Given the description of an element on the screen output the (x, y) to click on. 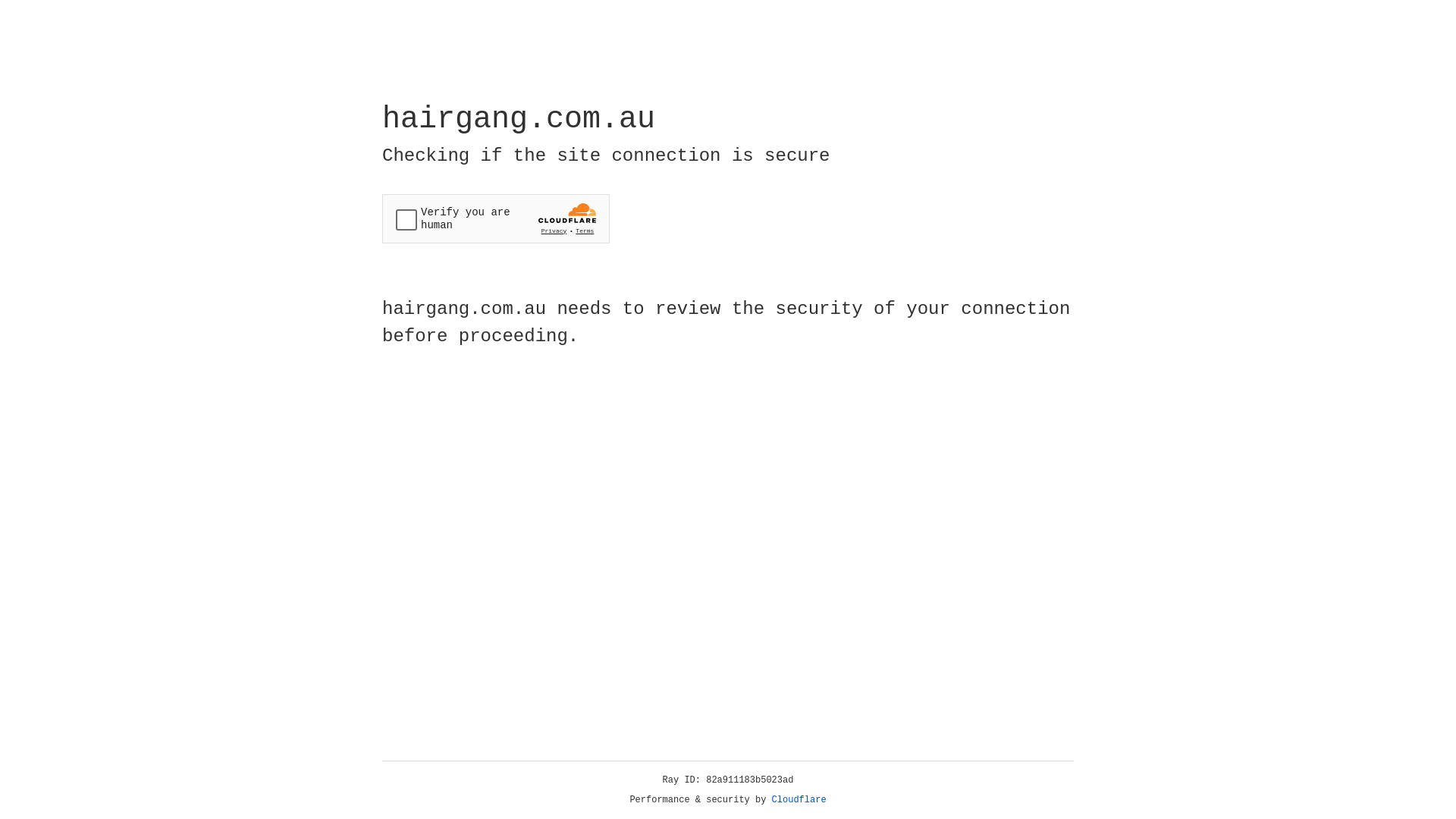
Widget containing a Cloudflare security challenge Element type: hover (495, 218)
Cloudflare Element type: text (798, 799)
